Given the description of an element on the screen output the (x, y) to click on. 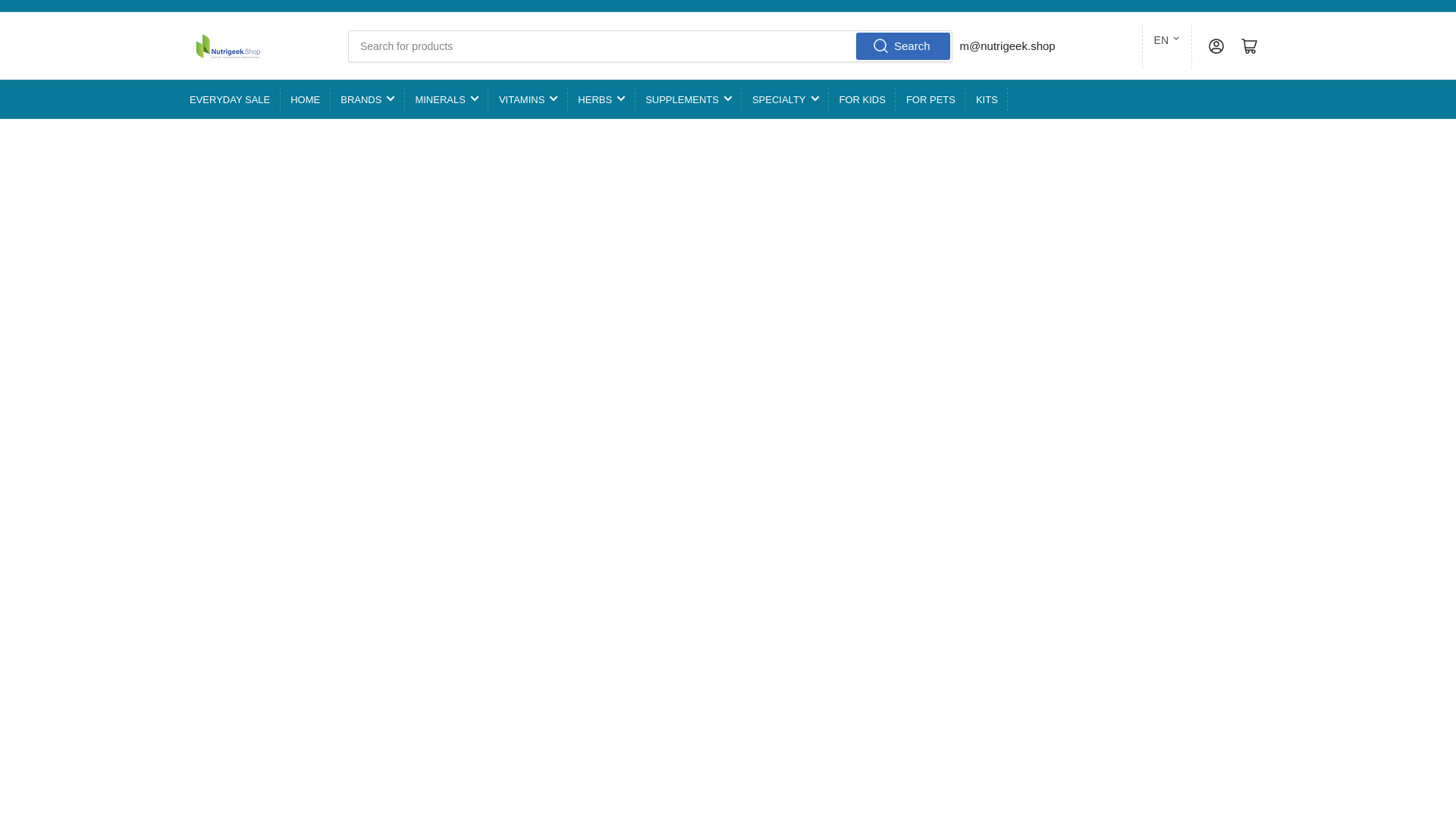
Log in (1216, 45)
Search (903, 45)
Open mini cart (1249, 45)
1 (831, 391)
